Given the description of an element on the screen output the (x, y) to click on. 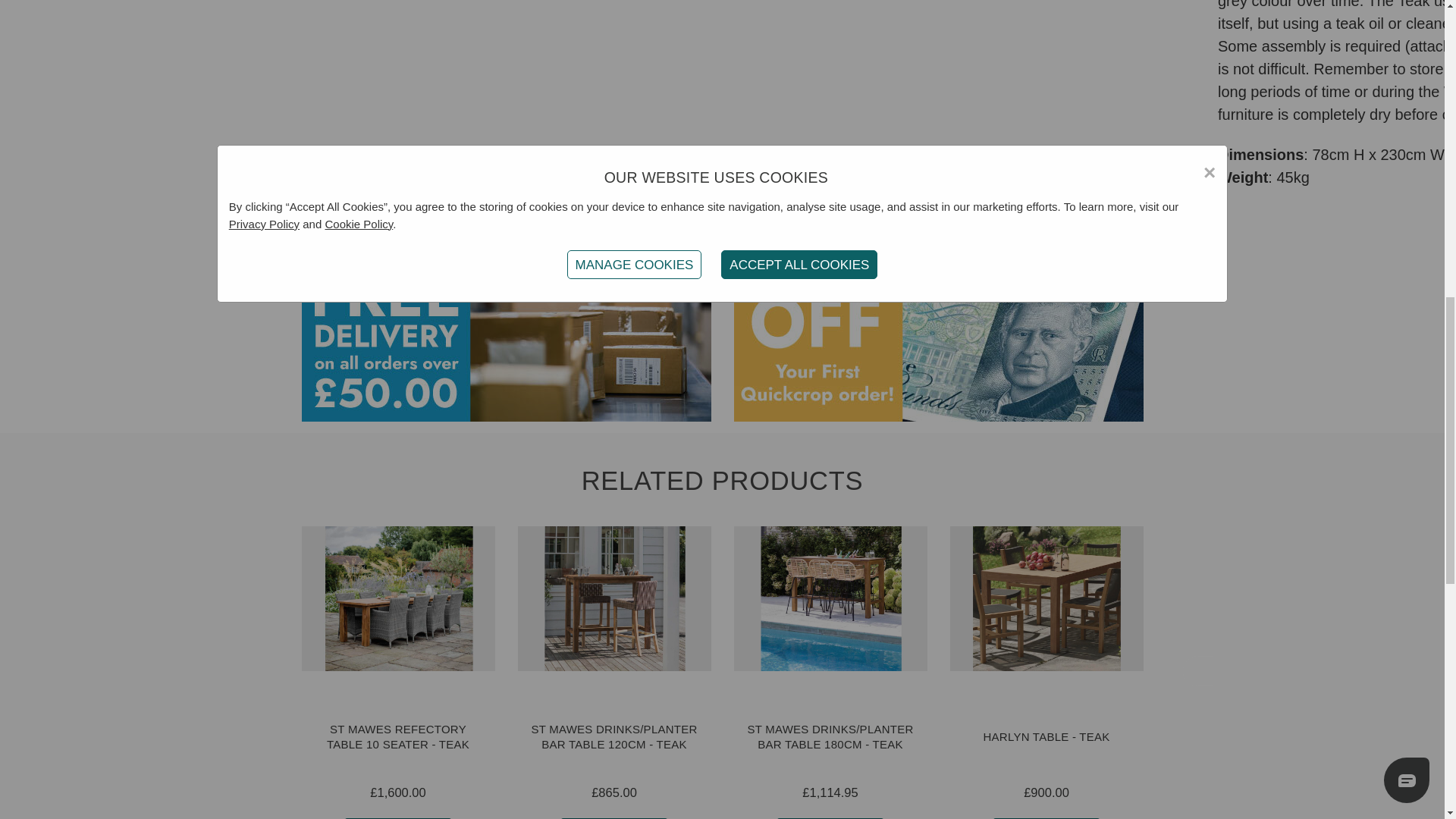
St Mawes drinks and planter table (830, 598)
weatherproof Teak dining table (1045, 598)
St Mawes Teak Refectory Table (398, 598)
St Mawes outdoor Drinks and Planter Table (613, 598)
